Given the description of an element on the screen output the (x, y) to click on. 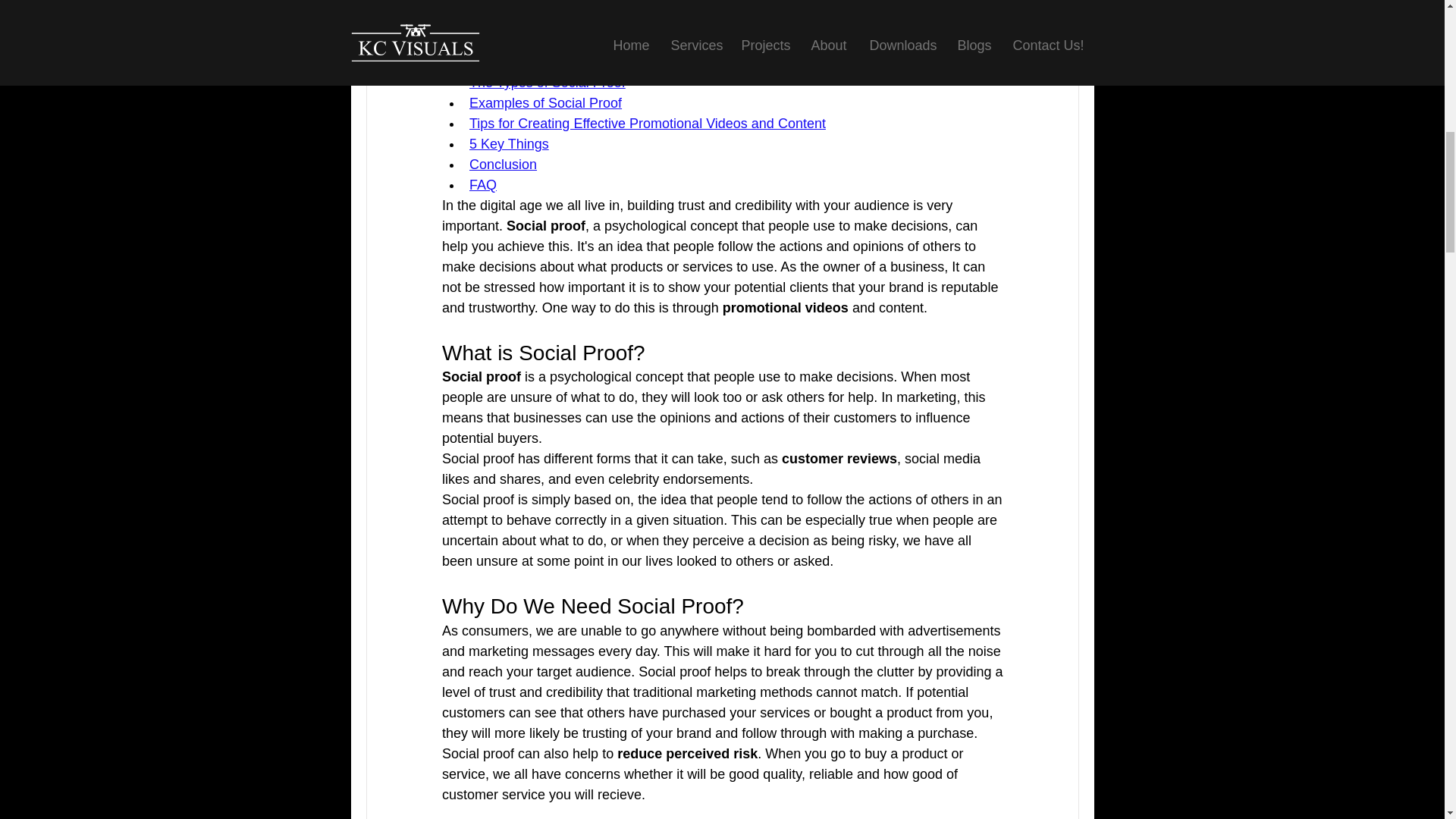
Why Do We Need Social Proof? (565, 41)
Conclusion (501, 164)
FAQ (482, 184)
Tips for Creating Effective Promotional Videos and Content (646, 123)
How Can Promotional Videos and Content Help? (616, 61)
5 Key Things (508, 143)
Examples of Social Proof (544, 102)
What is Social Proof? (533, 20)
The Types of Social Proof (546, 82)
